Given the description of an element on the screen output the (x, y) to click on. 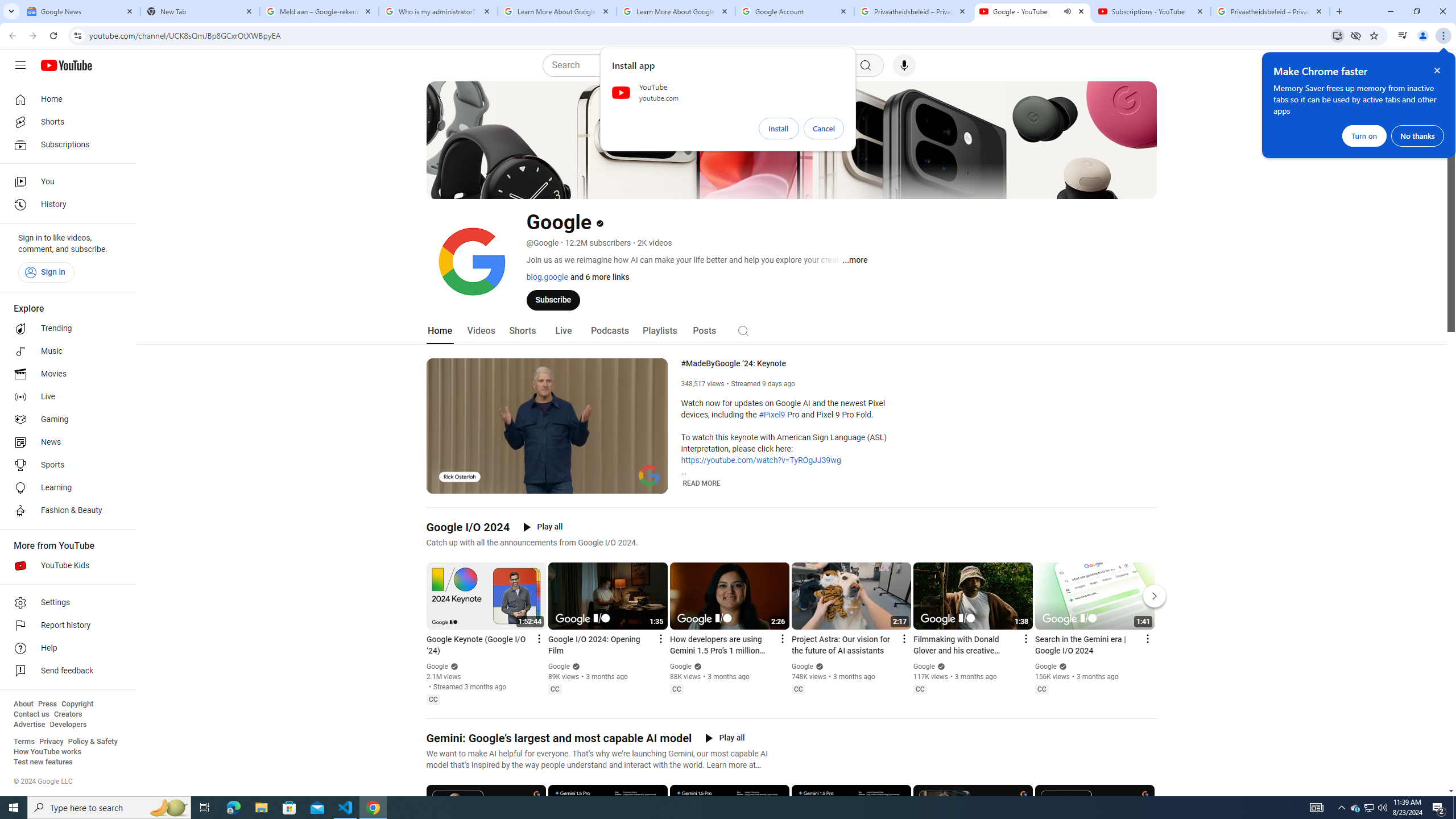
Test new features (42, 761)
Pause (k) (443, 483)
Music (64, 350)
READ MORE (701, 482)
Fashion & Beauty (64, 510)
Podcasts (608, 330)
Shorts (521, 330)
Subscriptions - YouTube (1150, 11)
